Given the description of an element on the screen output the (x, y) to click on. 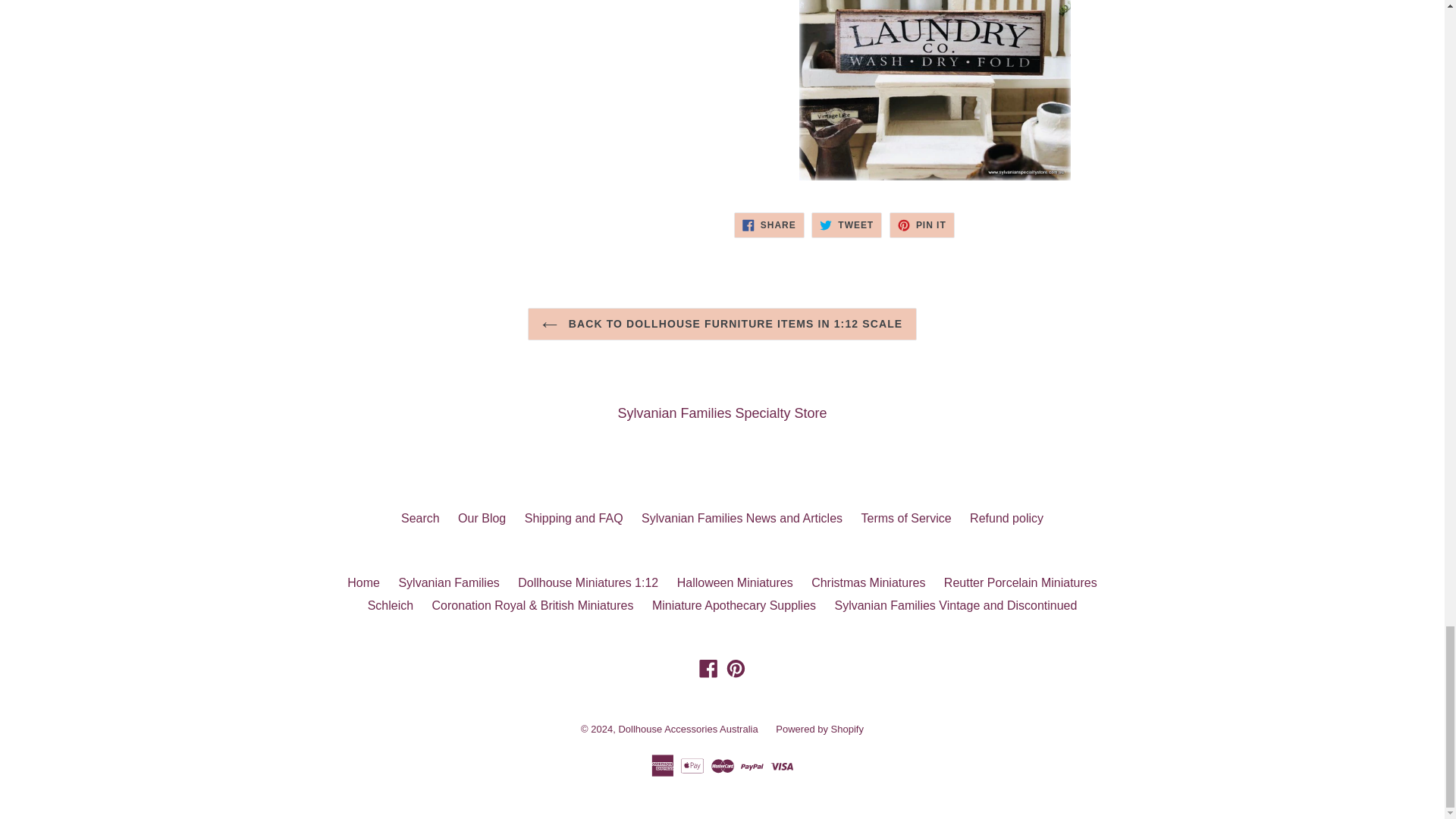
Share on Facebook (769, 225)
Dollhouse Accessories Australia   on Facebook (708, 668)
Dollhouse Accessories Australia   on Pinterest (735, 668)
Pin on Pinterest (922, 225)
Tweet on Twitter (846, 225)
